Given the description of an element on the screen output the (x, y) to click on. 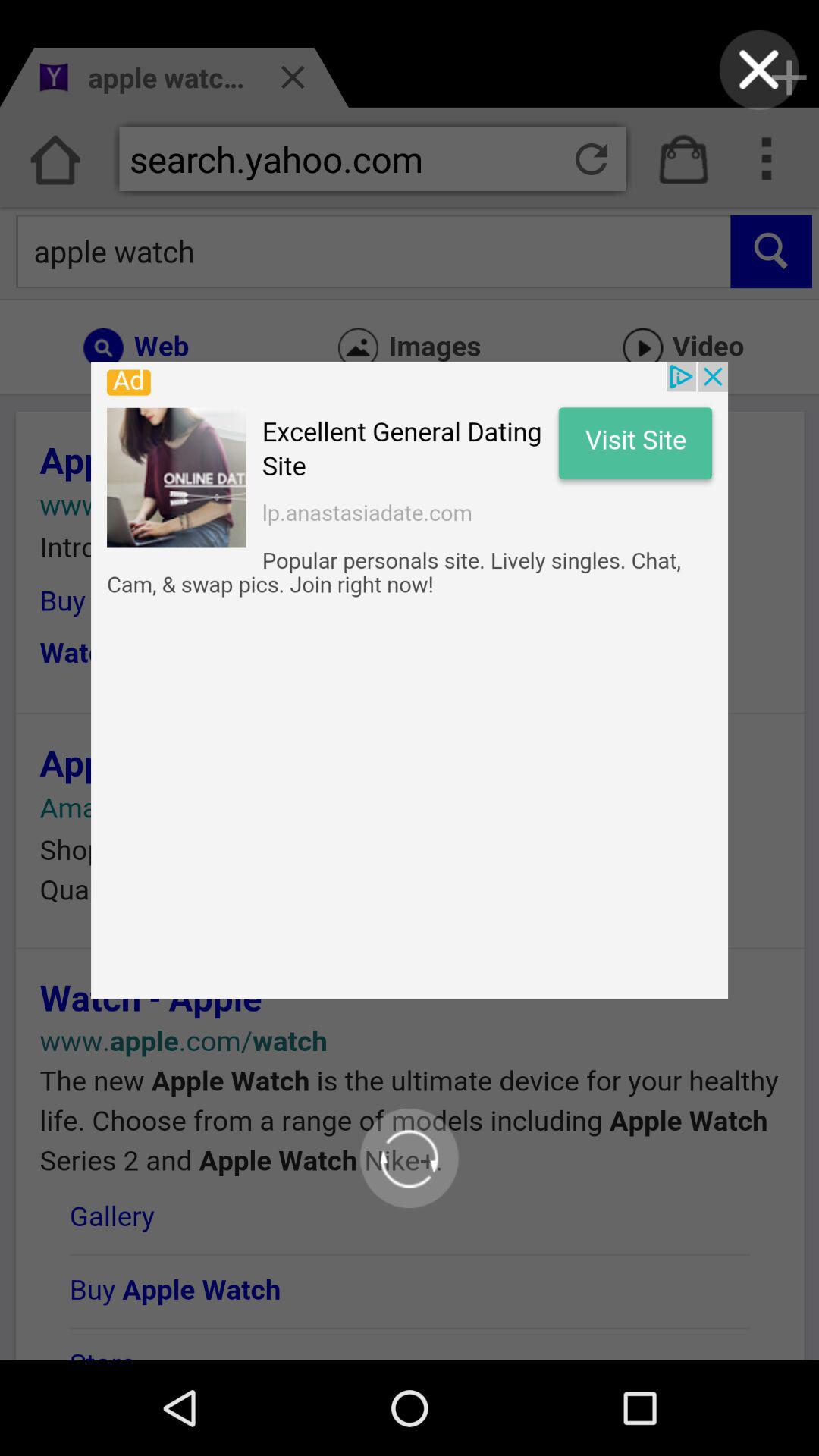
refresh (408, 1158)
